Given the description of an element on the screen output the (x, y) to click on. 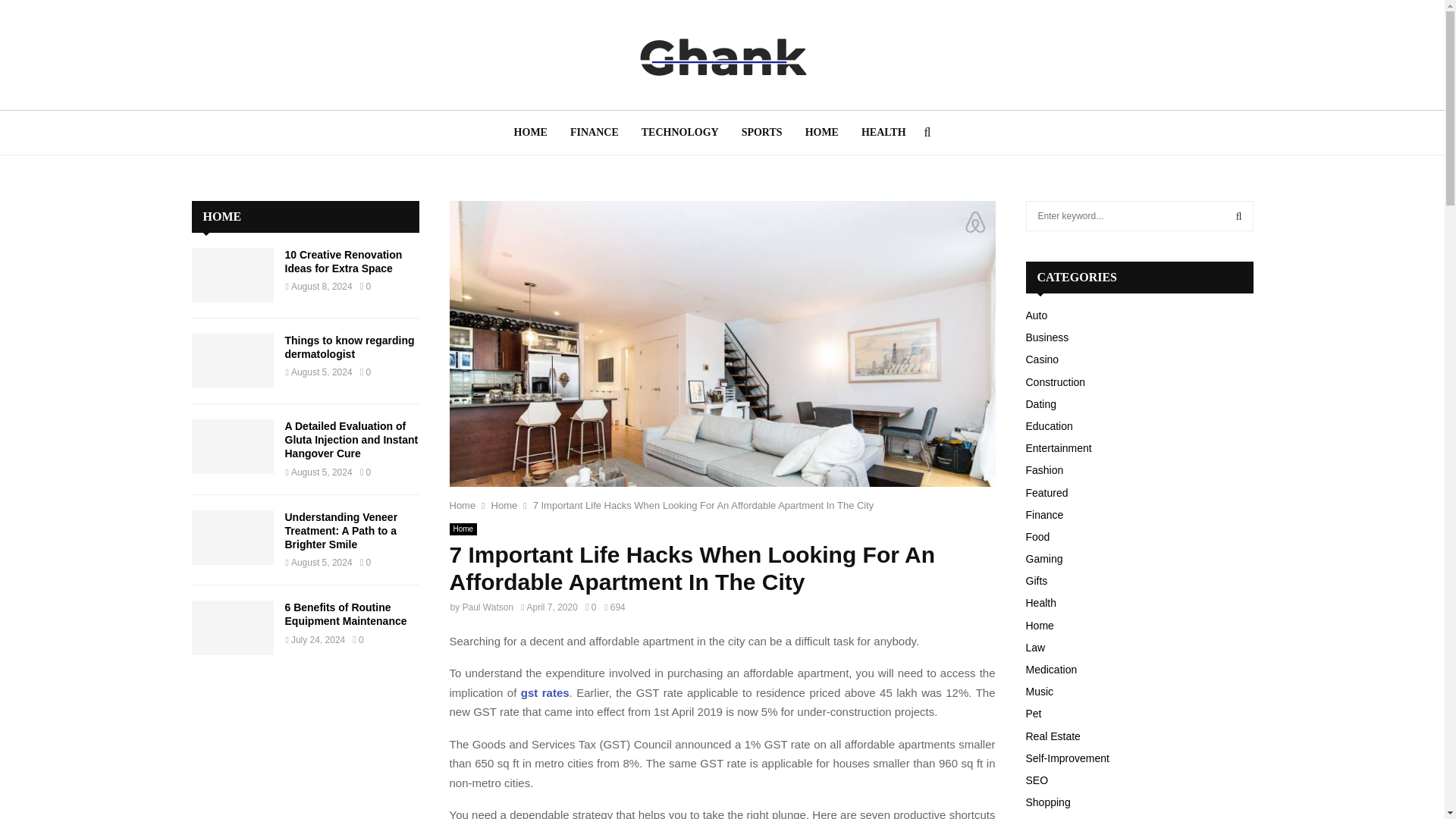
Home (462, 505)
0 (590, 606)
10 Creative Renovation Ideas for Extra Space (344, 261)
gst rates (545, 692)
Things to know regarding dermatologist (231, 360)
HEALTH (883, 132)
Paul Watson (488, 606)
FINANCE (594, 132)
